Given the description of an element on the screen output the (x, y) to click on. 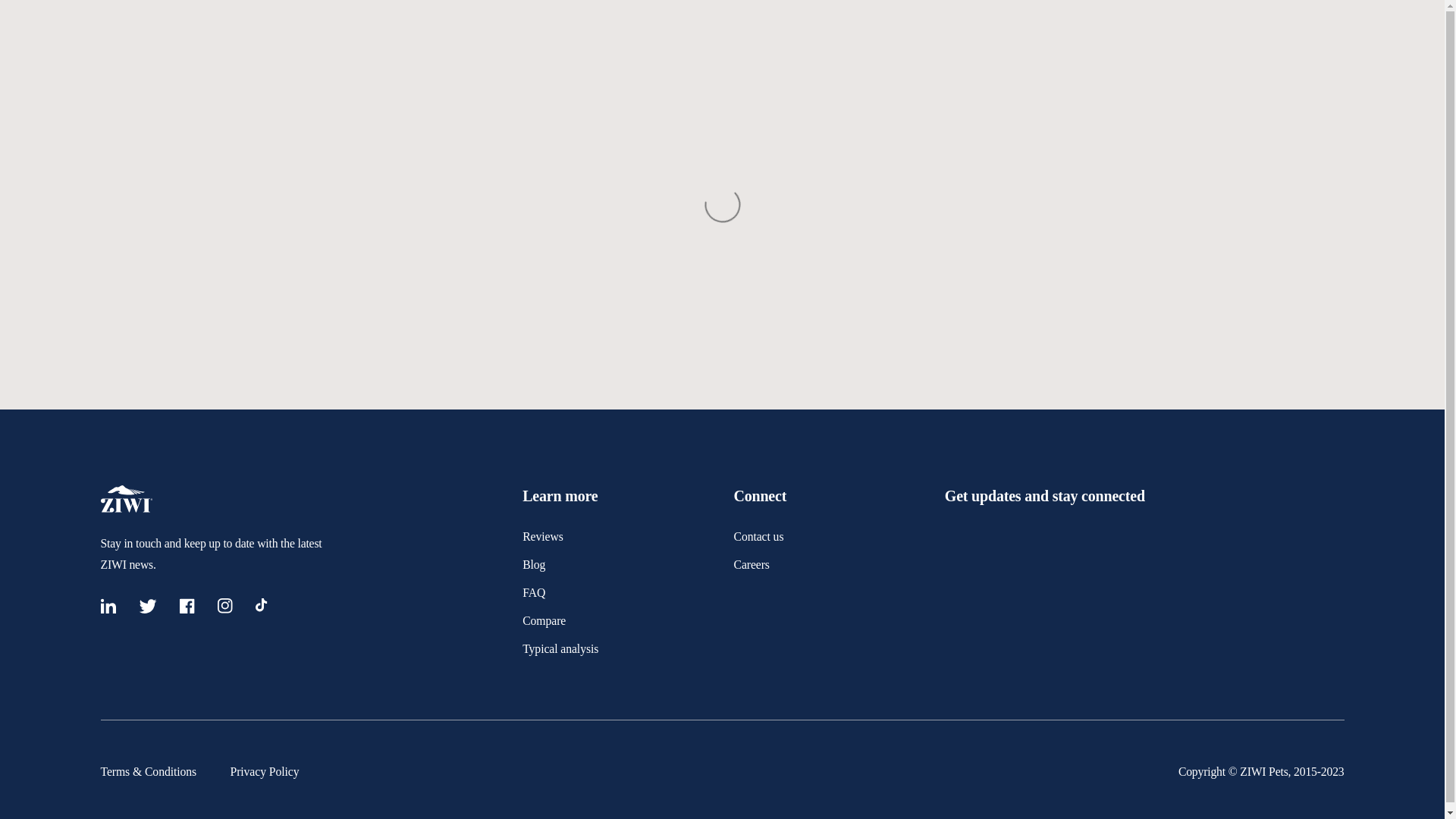
Blog (533, 563)
Facebook (186, 608)
Typical analysis (560, 648)
FAQ (533, 592)
Careers (750, 563)
Compare (544, 620)
Linkedin (107, 608)
Contact us (758, 535)
Privacy Policy (264, 771)
Reviews (542, 535)
